Given the description of an element on the screen output the (x, y) to click on. 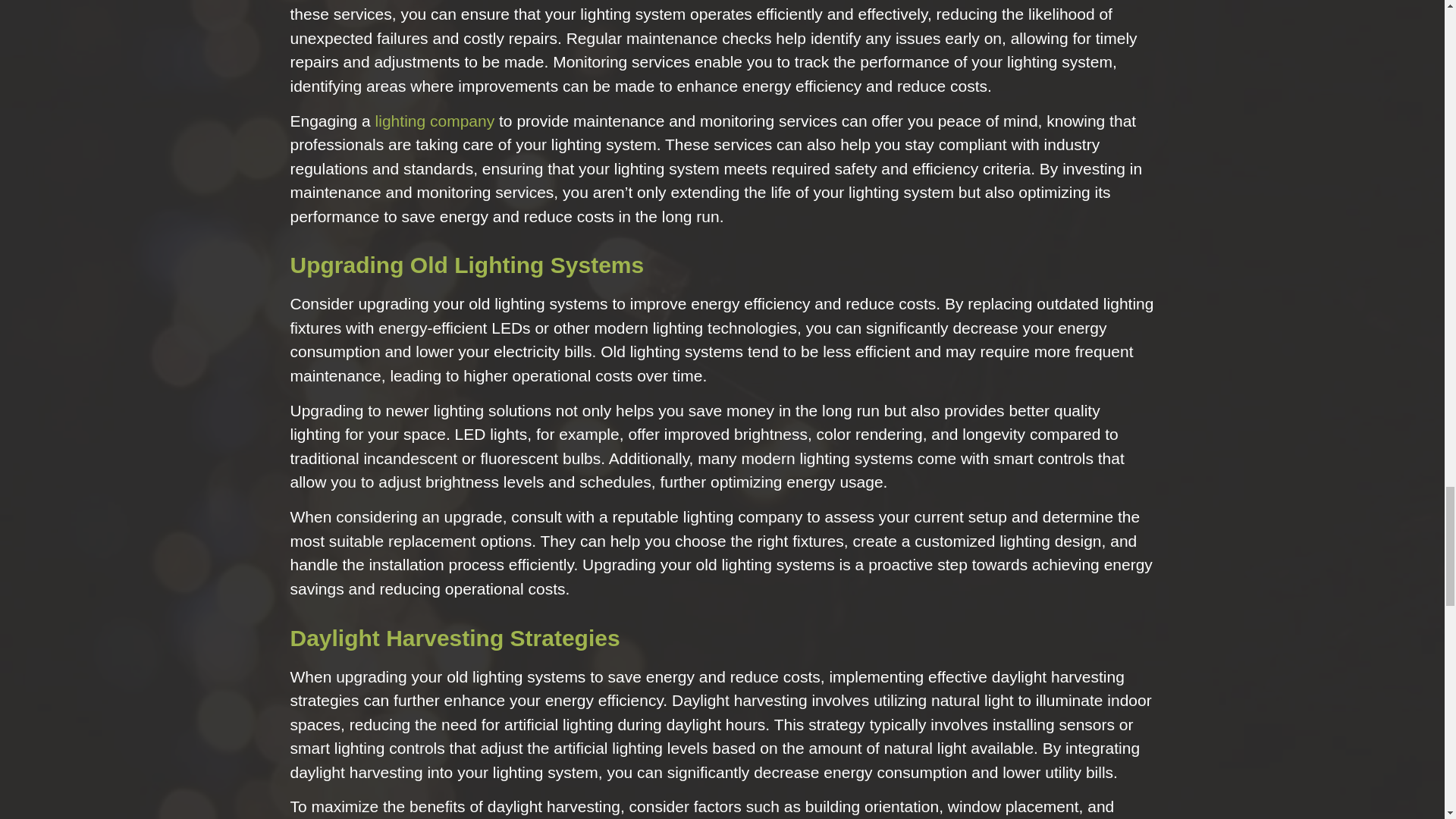
lighting company (435, 120)
